Given the description of an element on the screen output the (x, y) to click on. 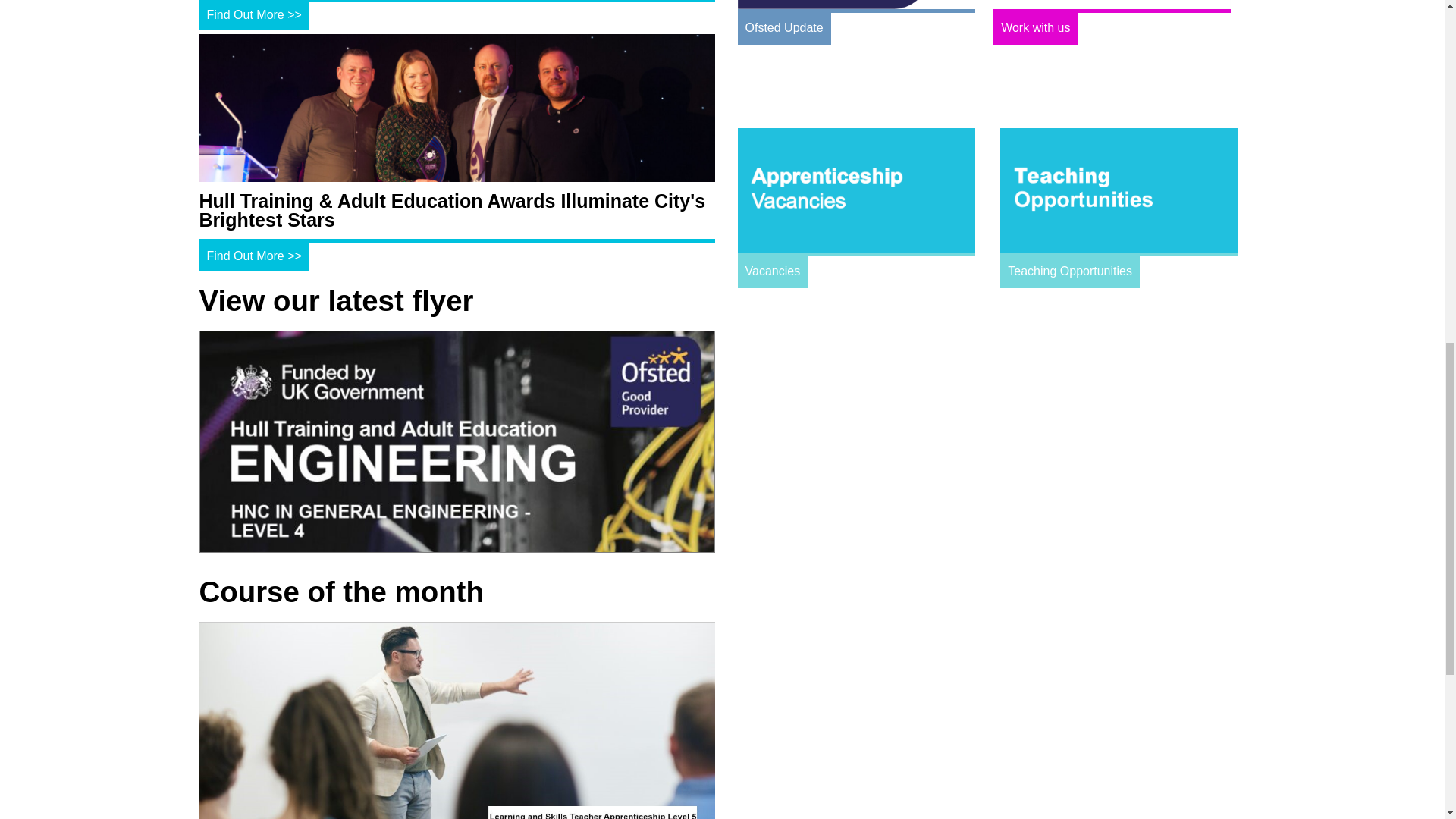
Work with us (1112, 8)
Ofsted Update (857, 8)
Vacancies (855, 251)
